Given the description of an element on the screen output the (x, y) to click on. 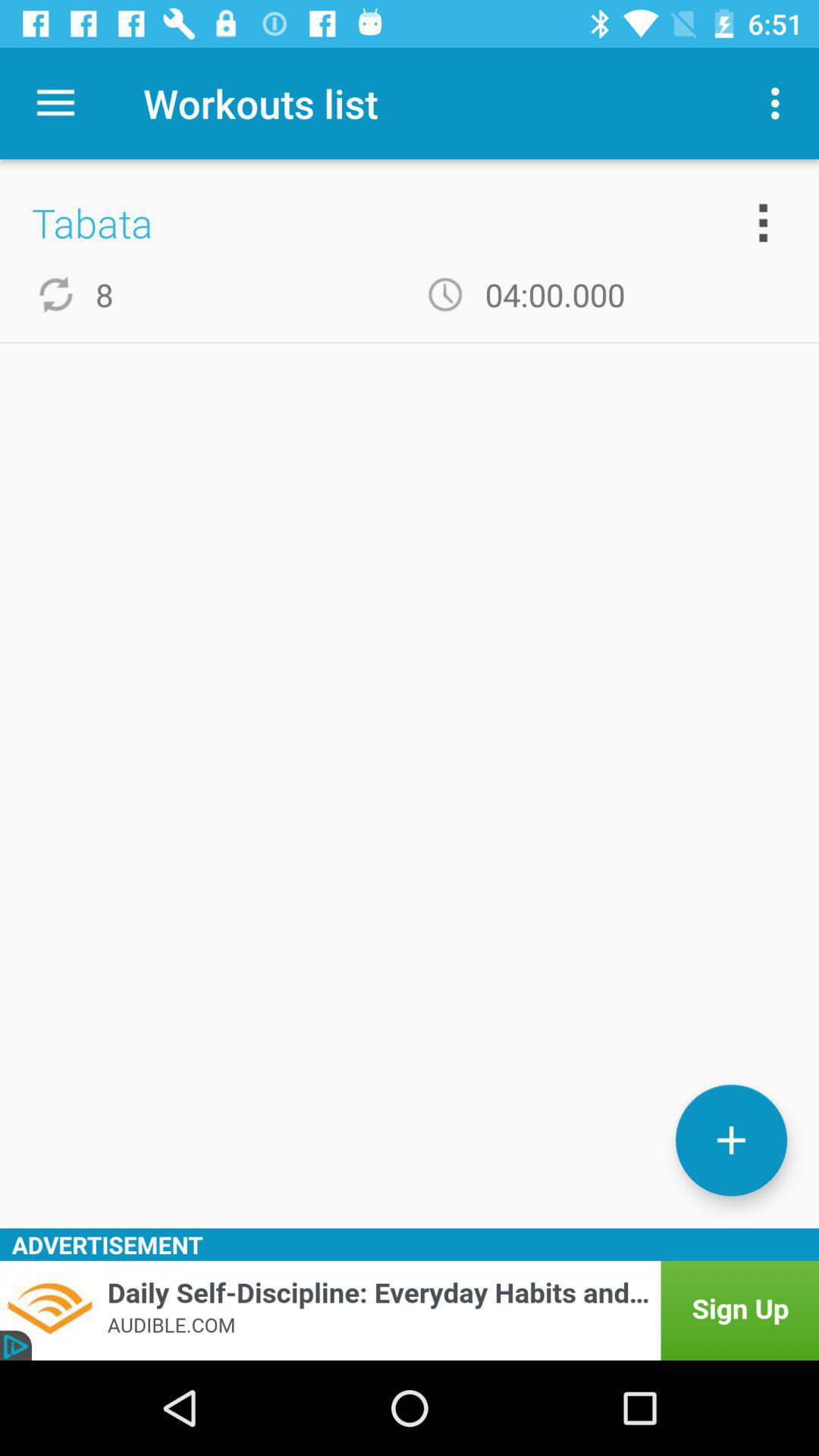
select icon below advertisement icon (409, 1310)
